Given the description of an element on the screen output the (x, y) to click on. 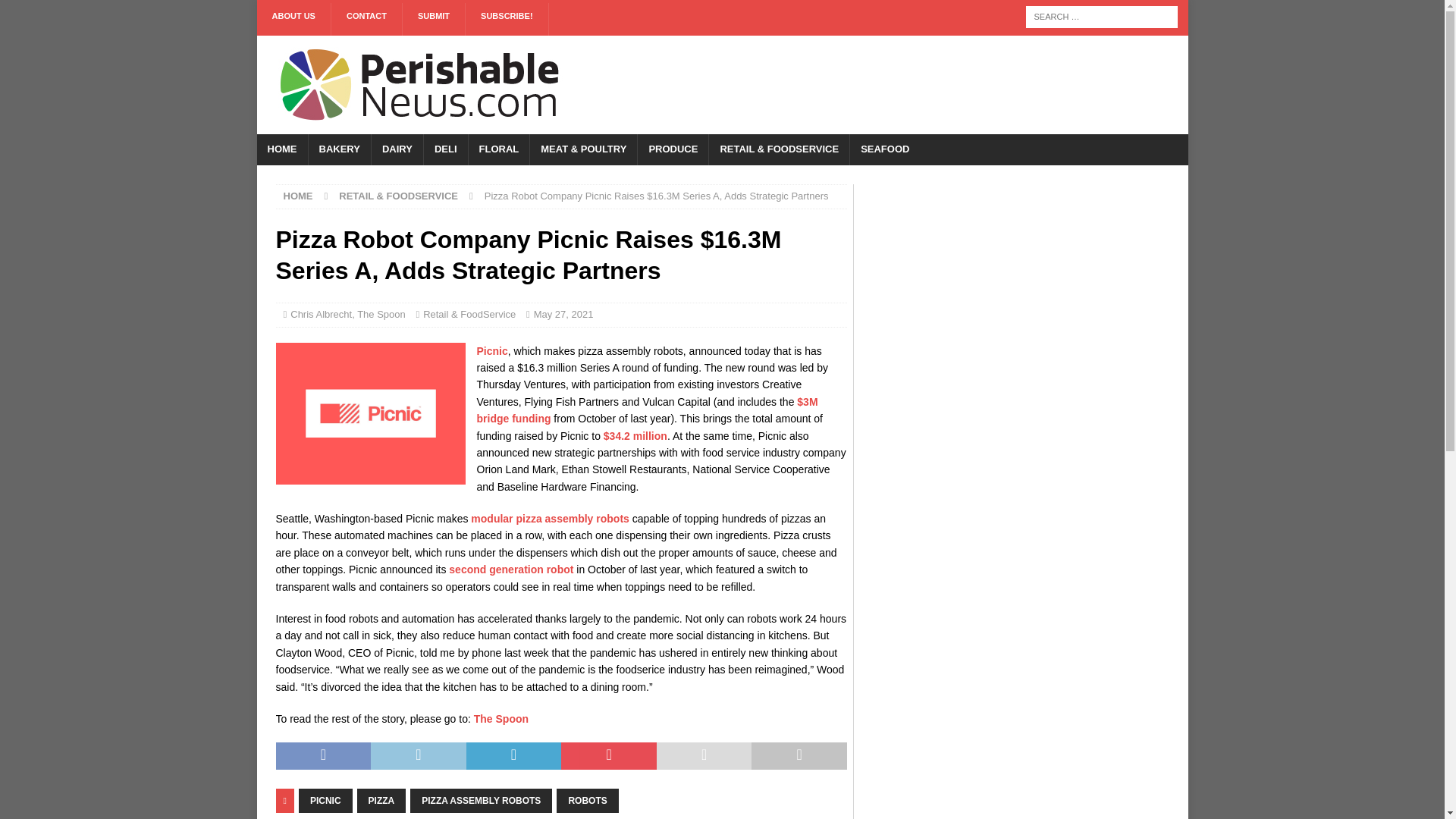
Picnic (491, 350)
HOME (298, 195)
DAIRY (397, 149)
SEAFOOD (884, 149)
HOME (281, 149)
SUBMIT (434, 19)
Search (56, 11)
BAKERY (339, 149)
ABOUT US (293, 19)
PRODUCE (672, 149)
